Given the description of an element on the screen output the (x, y) to click on. 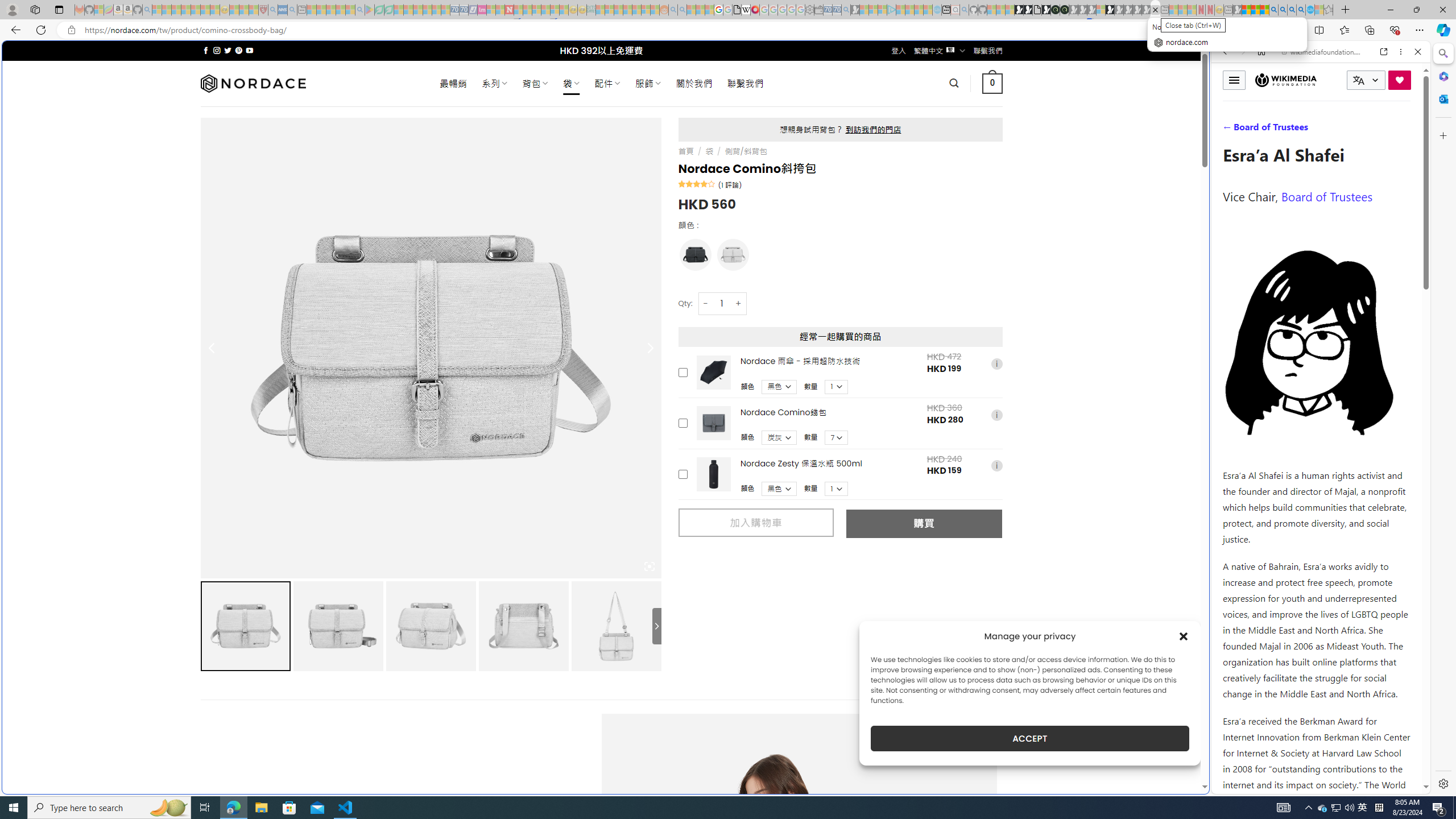
VIDEOS (1300, 130)
Wallet - Sleeping (818, 9)
Settings (1442, 783)
 0  (992, 83)
More options (1401, 51)
Utah sues federal government - Search - Sleeping (681, 9)
Bing AI - Search (1272, 9)
ACCEPT (1029, 738)
wikimediafoundation.org (1323, 51)
